Given the description of an element on the screen output the (x, y) to click on. 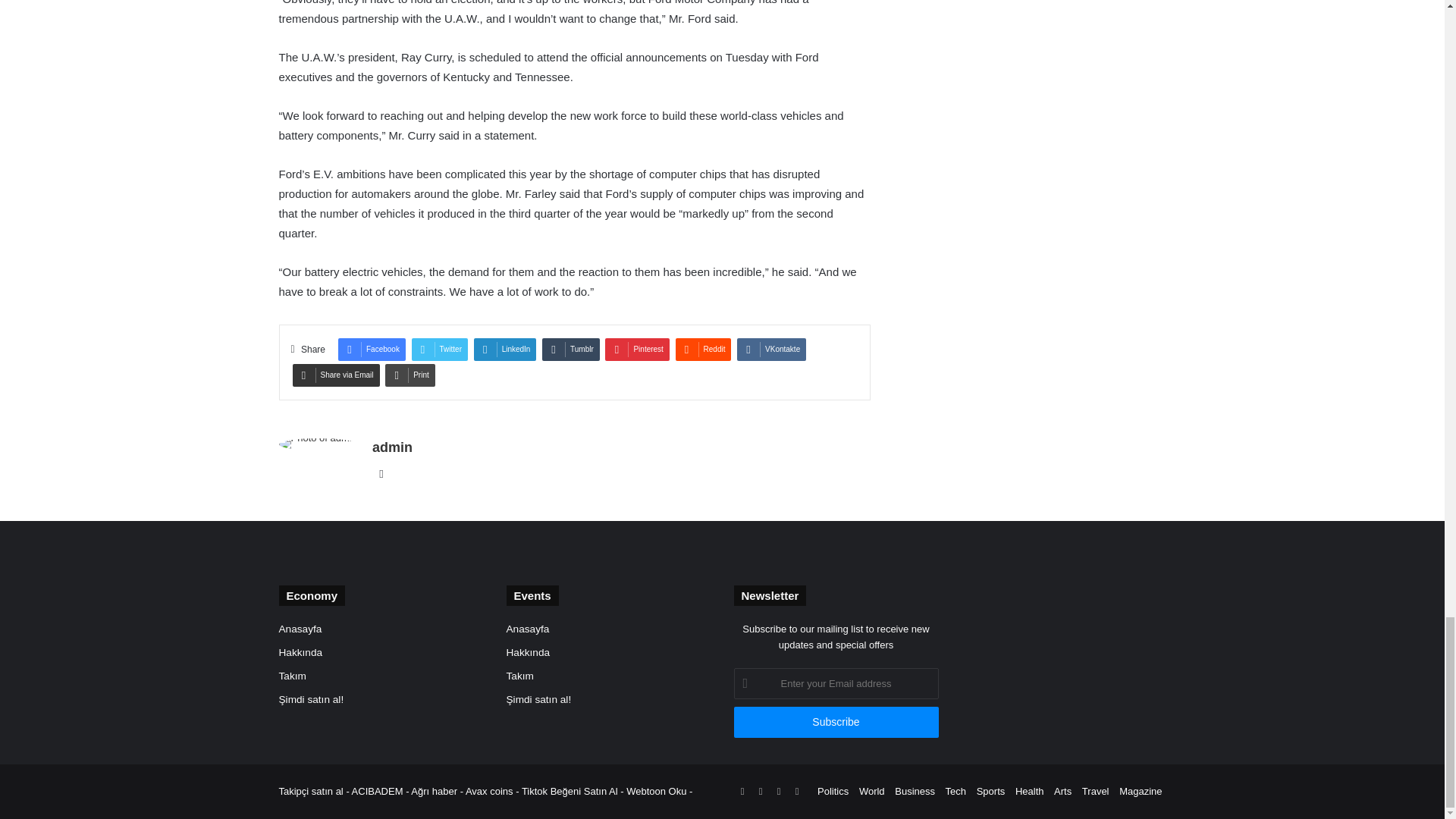
Subscribe (836, 721)
